Given the description of an element on the screen output the (x, y) to click on. 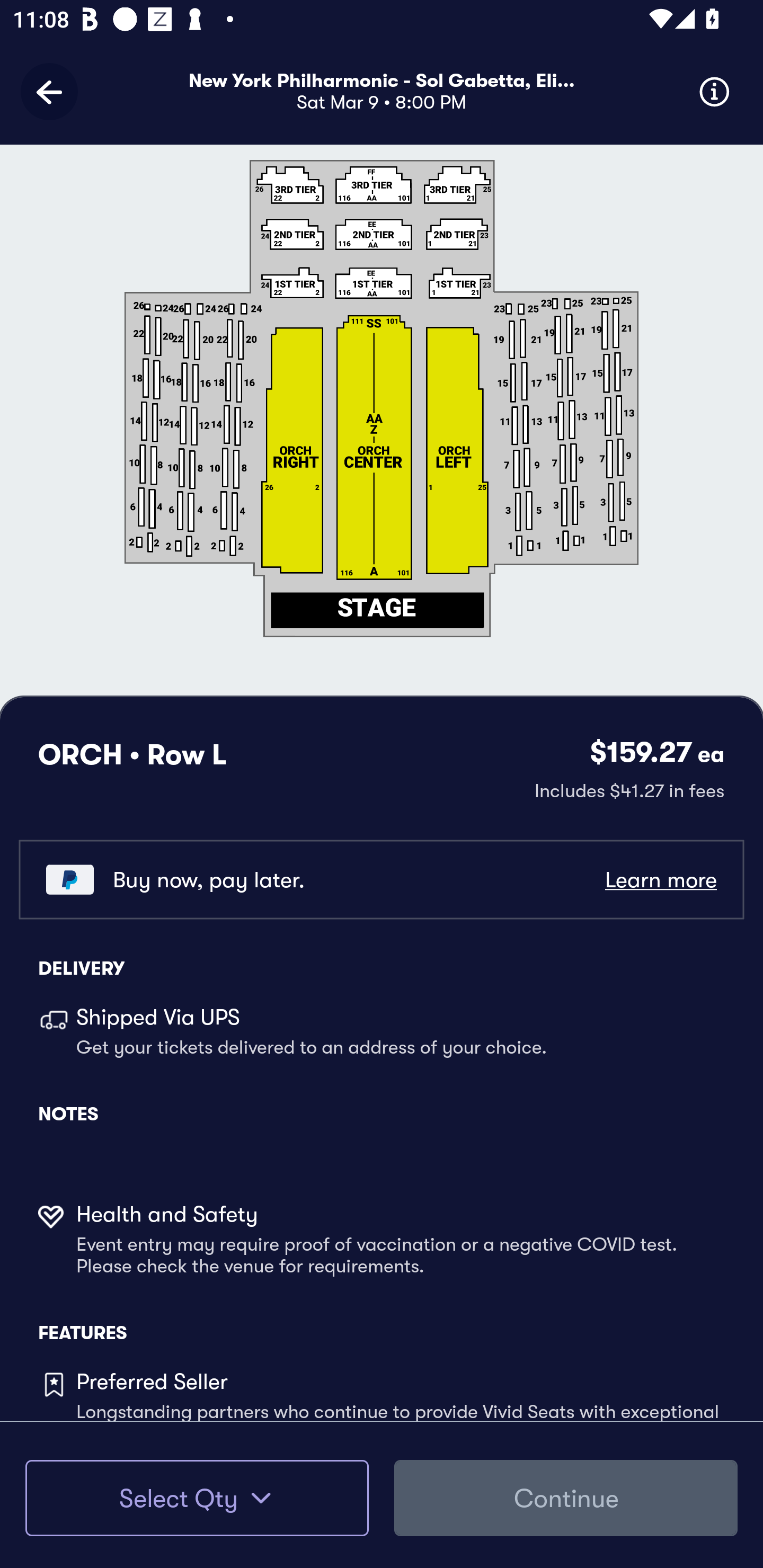
Learn more (660, 880)
Select Qty (196, 1497)
Continue (565, 1497)
